Given the description of an element on the screen output the (x, y) to click on. 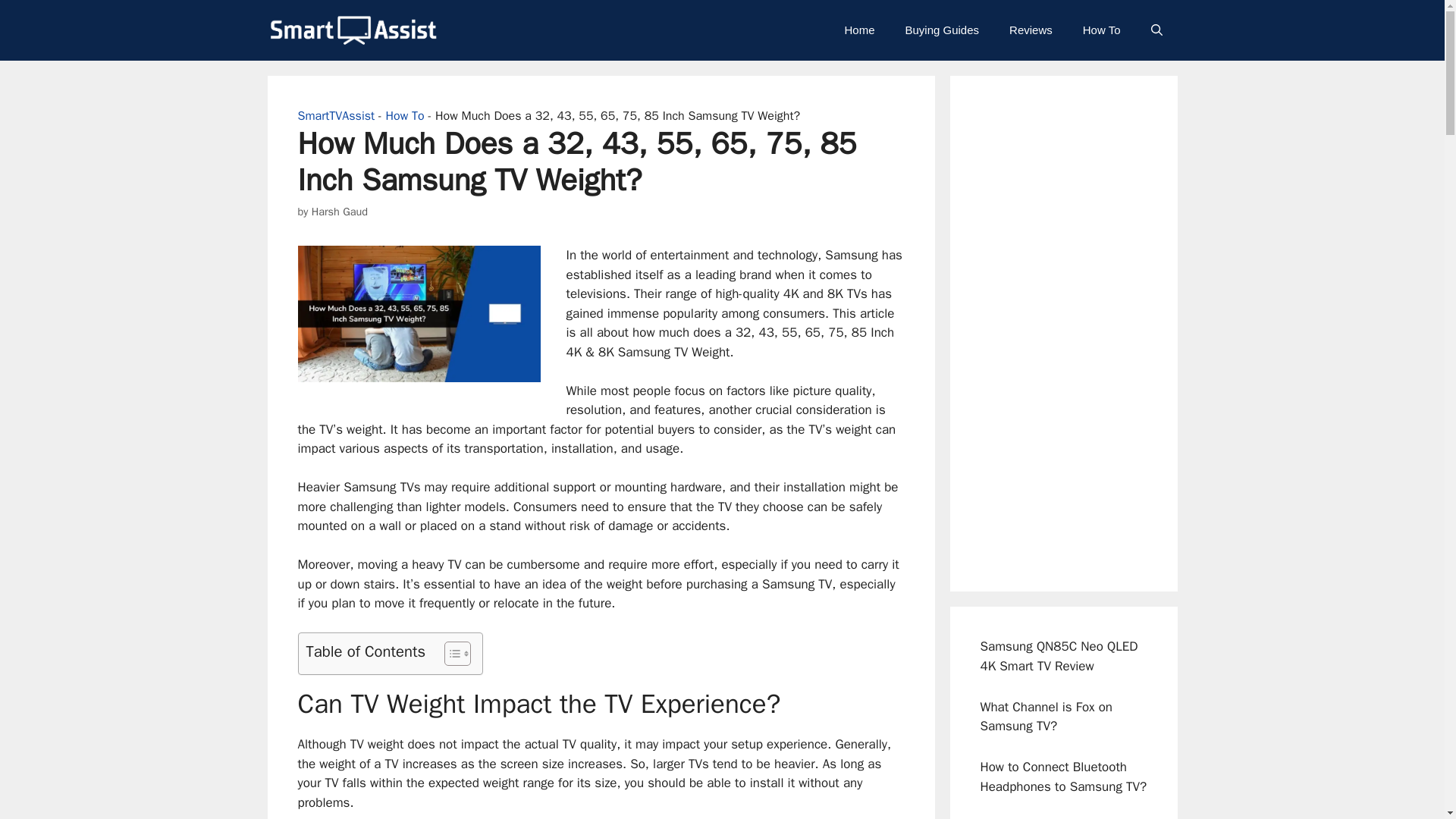
Samsung QN85C Neo QLED 4K Smart TV Review (1058, 656)
SmartTVAssist (335, 115)
Harsh Gaud (339, 211)
View all posts by Harsh Gaud (339, 211)
SmartTVAssist (352, 30)
Home (858, 30)
How To (405, 115)
Reviews (1030, 30)
Buying Guides (941, 30)
How To (1101, 30)
